Given the description of an element on the screen output the (x, y) to click on. 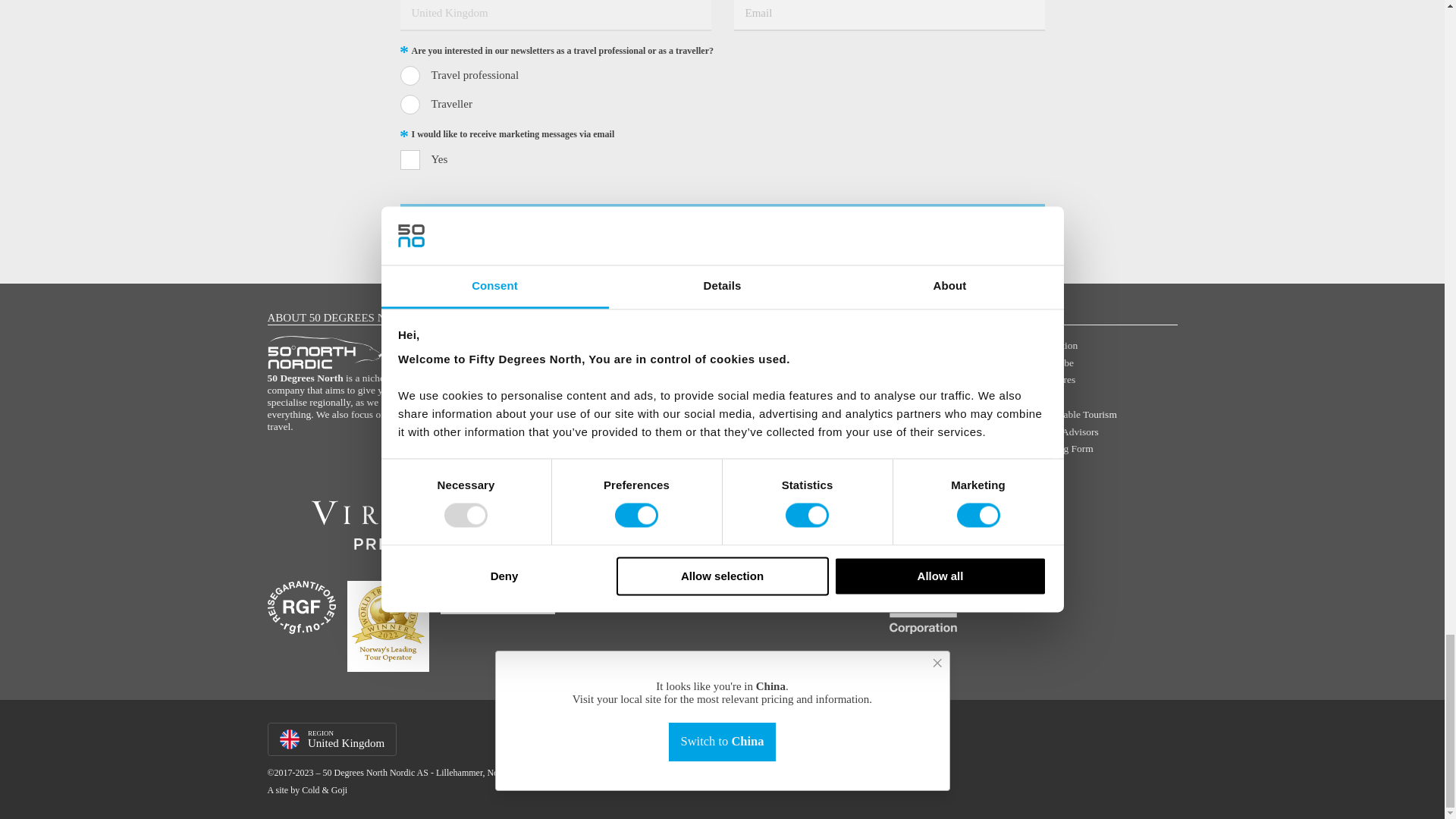
00NVg000000RE25 (410, 104)
00NVg000000RE0T (410, 75)
1 (410, 159)
